Given the description of an element on the screen output the (x, y) to click on. 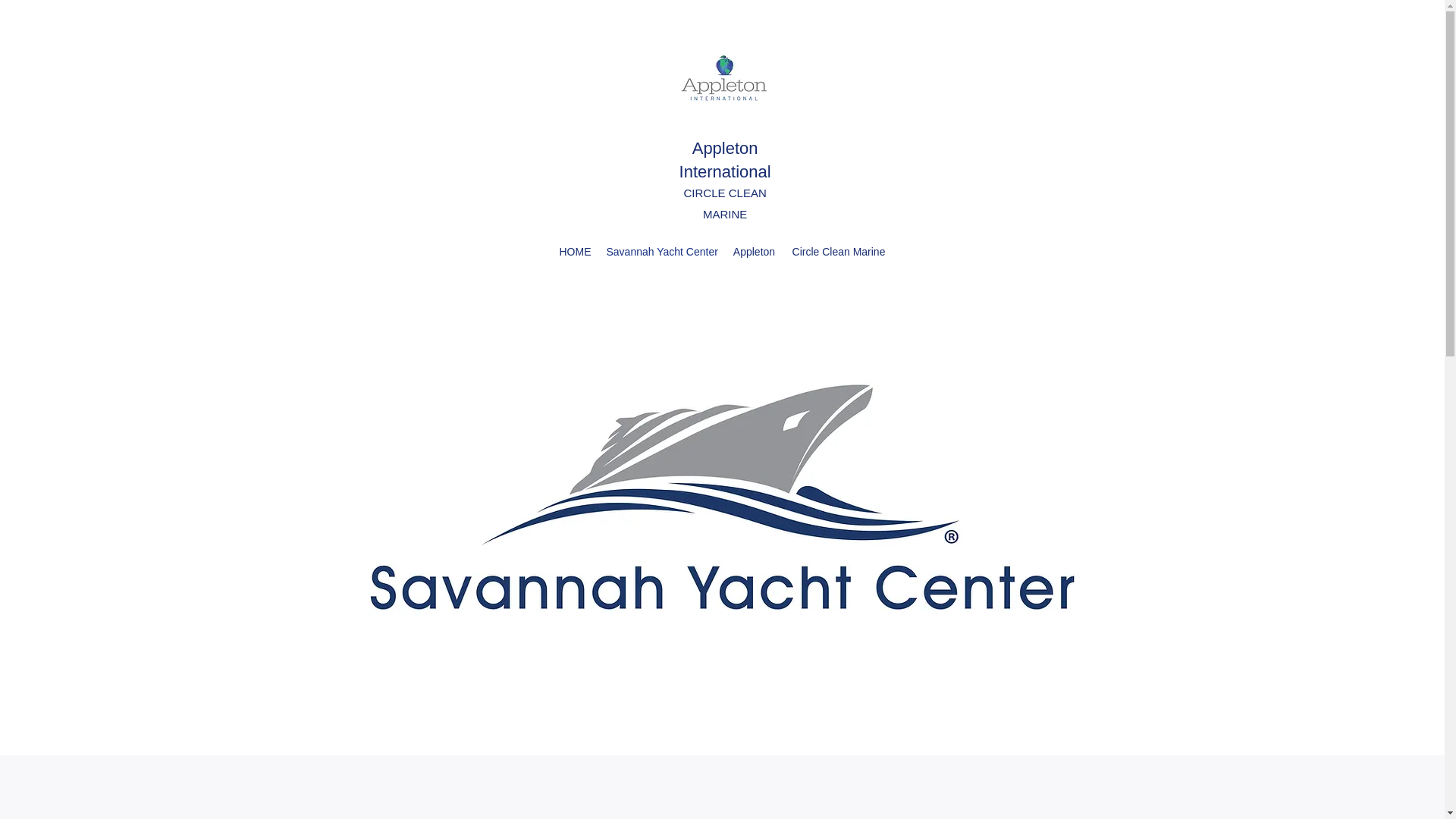
Savannah Yacht Center (660, 251)
HOME (574, 251)
Circle Clean Marine (838, 251)
Appleton (753, 251)
